Given the description of an element on the screen output the (x, y) to click on. 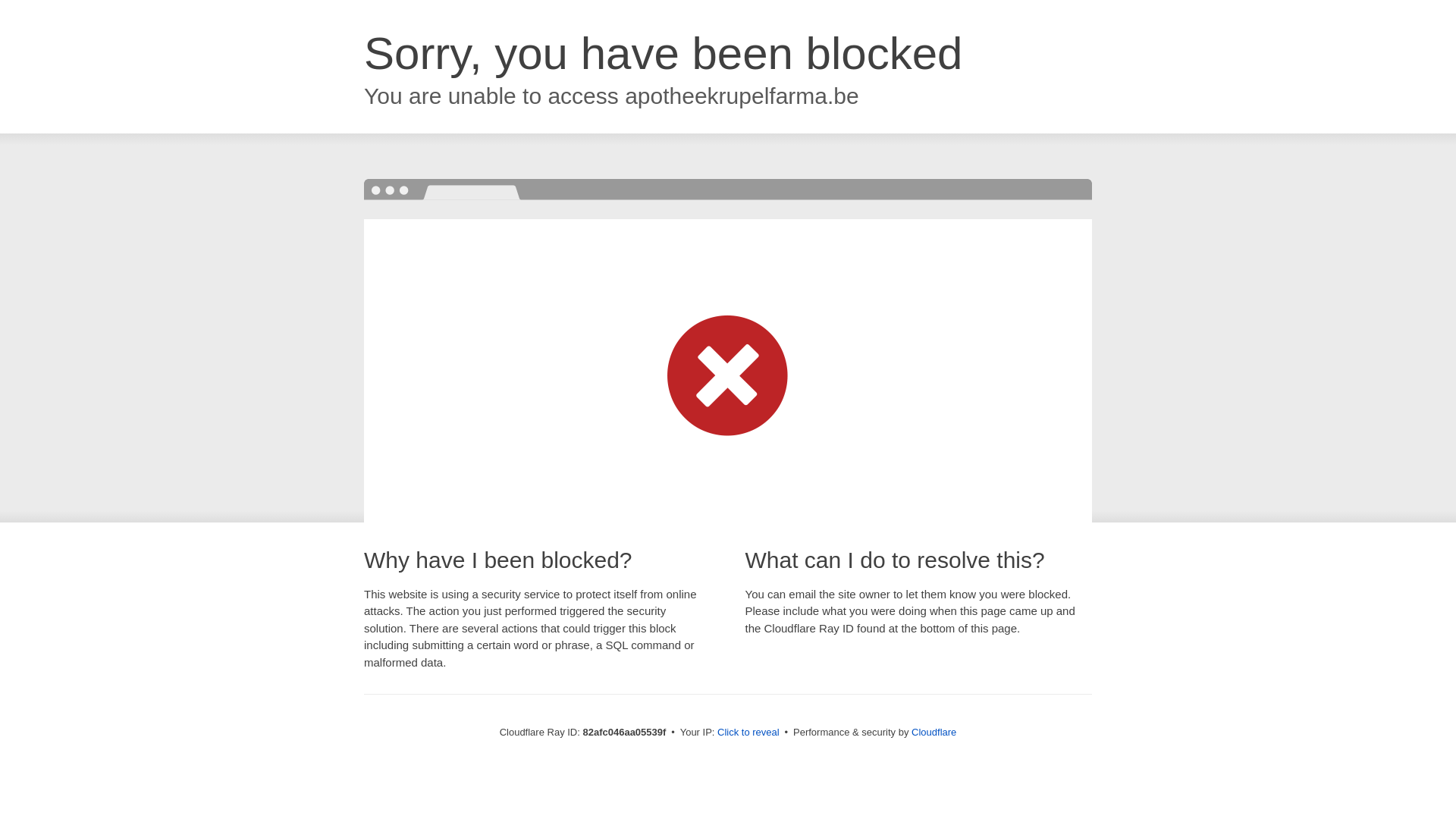
Click to reveal Element type: text (748, 732)
Cloudflare Element type: text (933, 731)
